Given the description of an element on the screen output the (x, y) to click on. 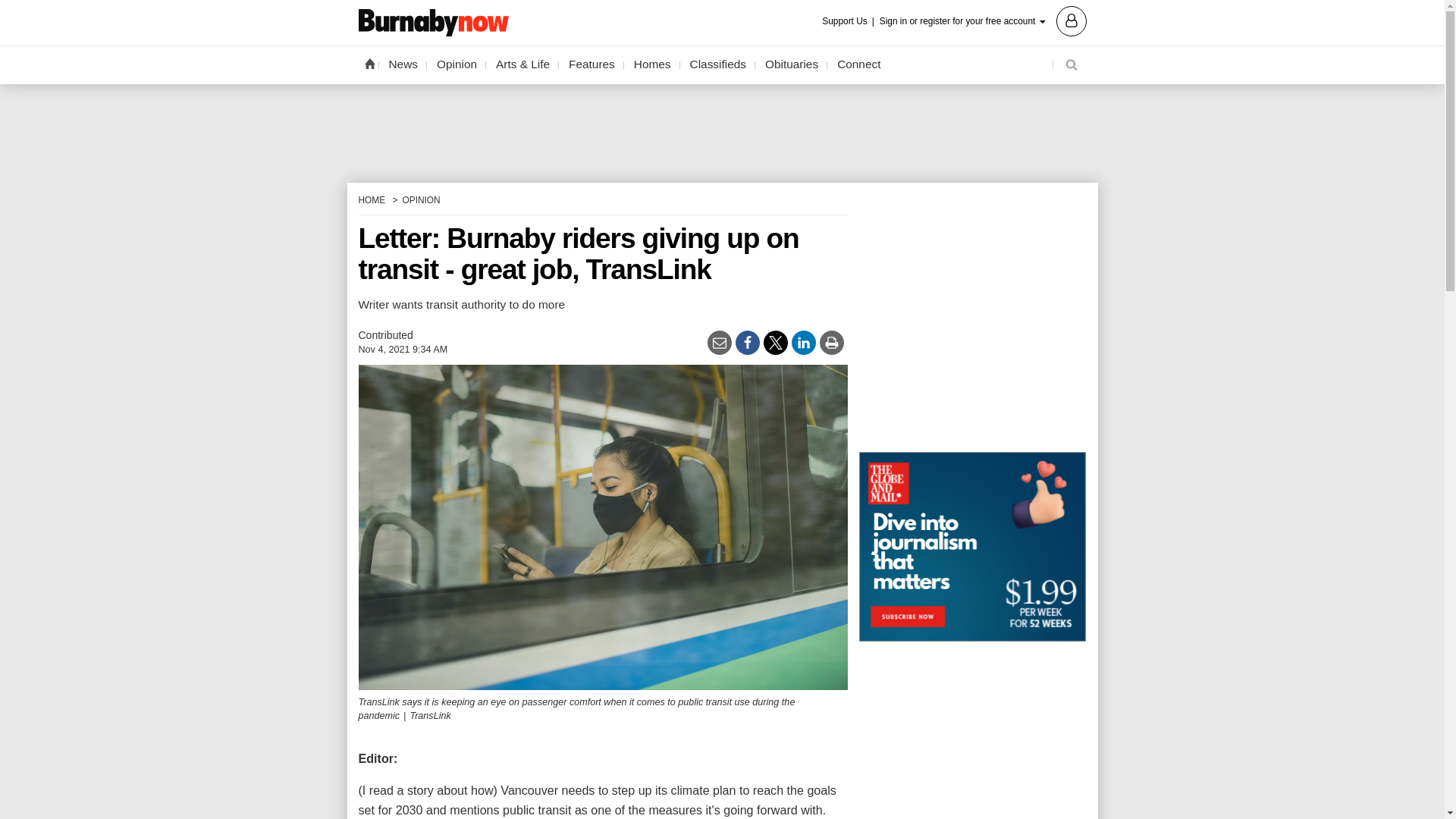
Sign in or register for your free account (982, 20)
Home (368, 63)
Support Us (849, 21)
Opinion (456, 64)
News (403, 64)
